Given the description of an element on the screen output the (x, y) to click on. 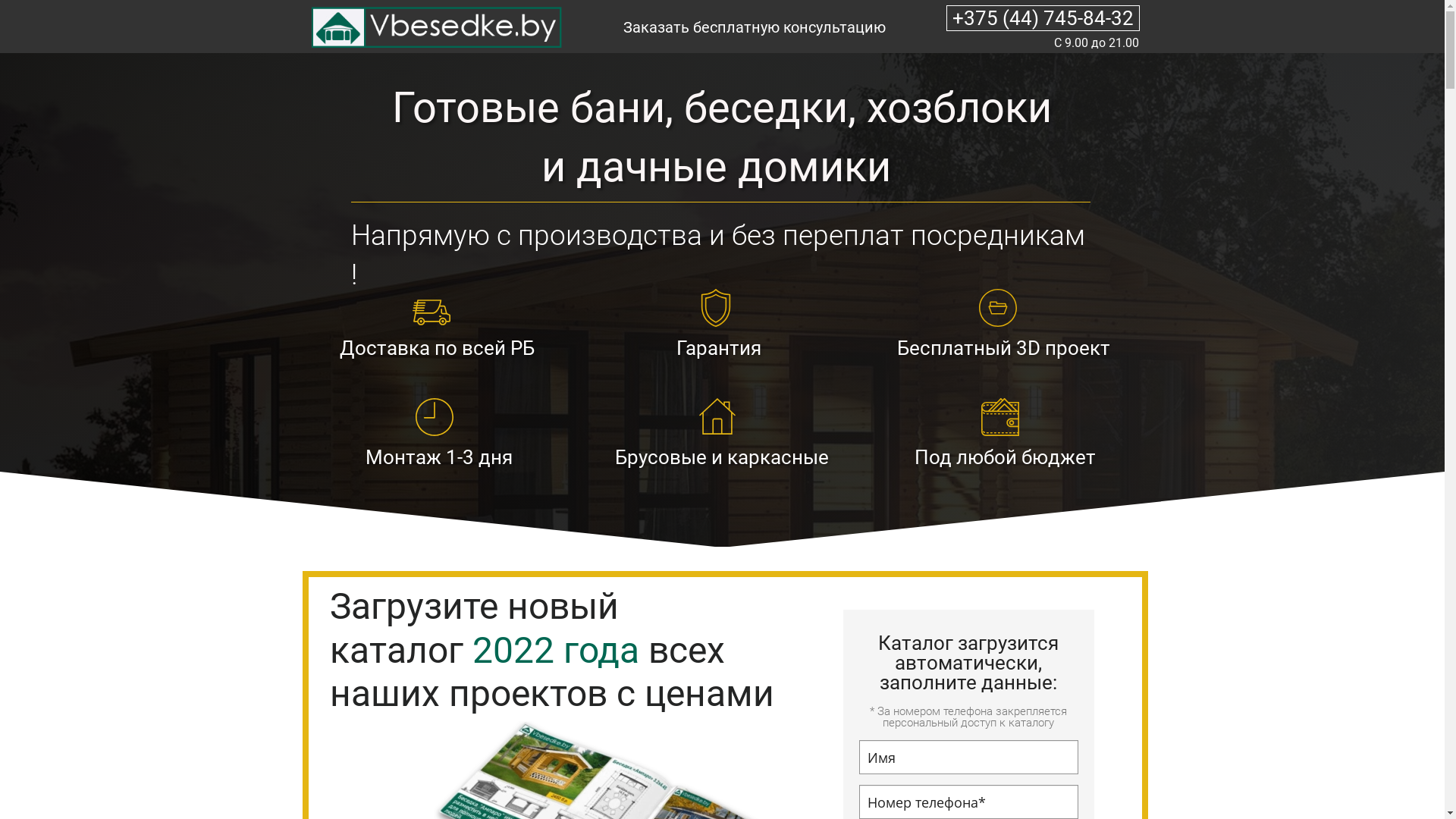
Vbesedke.by Element type: hover (433, 27)
+375 (44) 745-84-32 Element type: text (1042, 18)
